Given the description of an element on the screen output the (x, y) to click on. 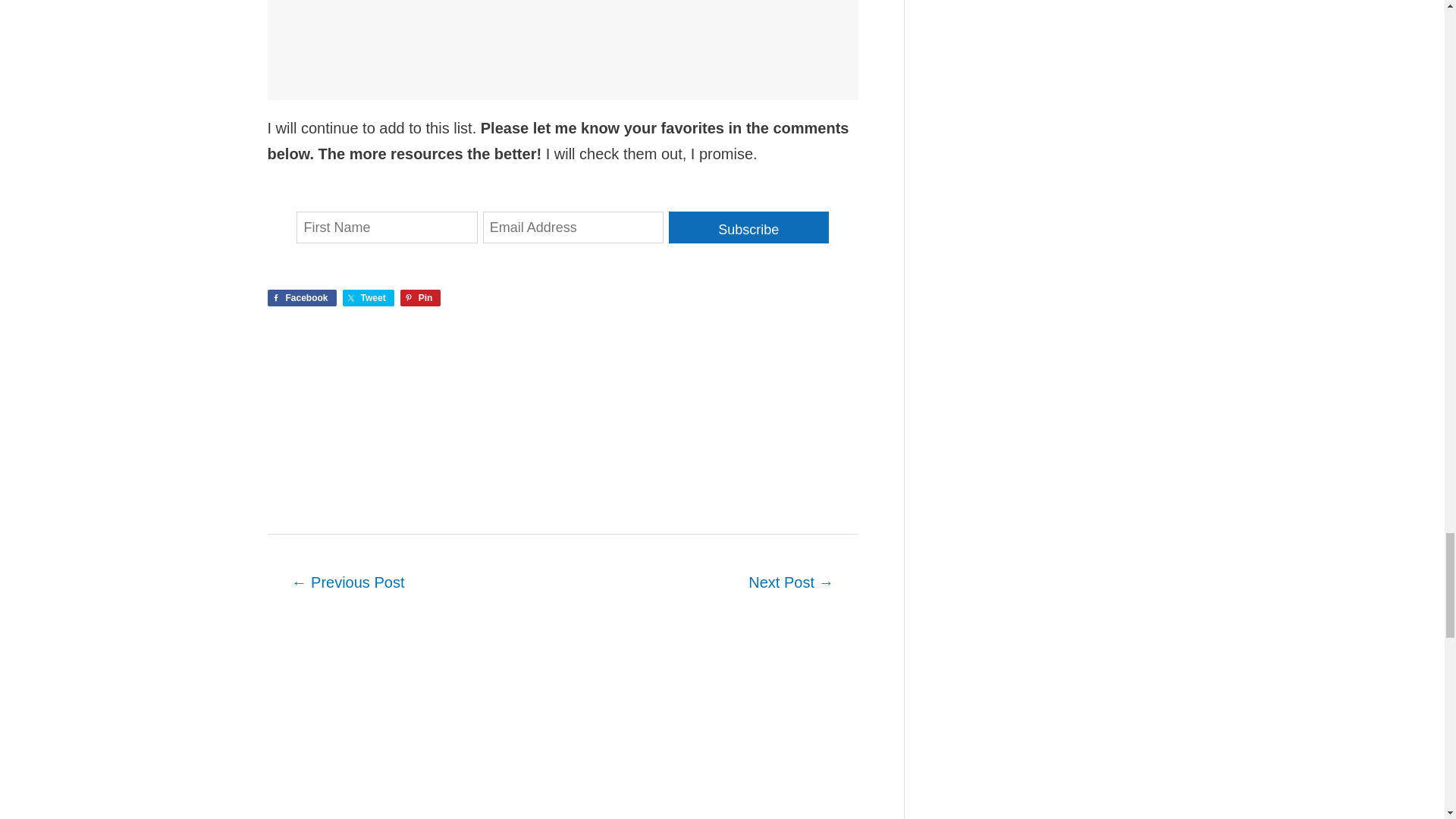
The Best Gardening Tools (790, 583)
Share on Twitter (368, 297)
The Best Seed Companies (346, 583)
Share on Facebook (301, 297)
Share on Pinterest (420, 297)
